Given the description of an element on the screen output the (x, y) to click on. 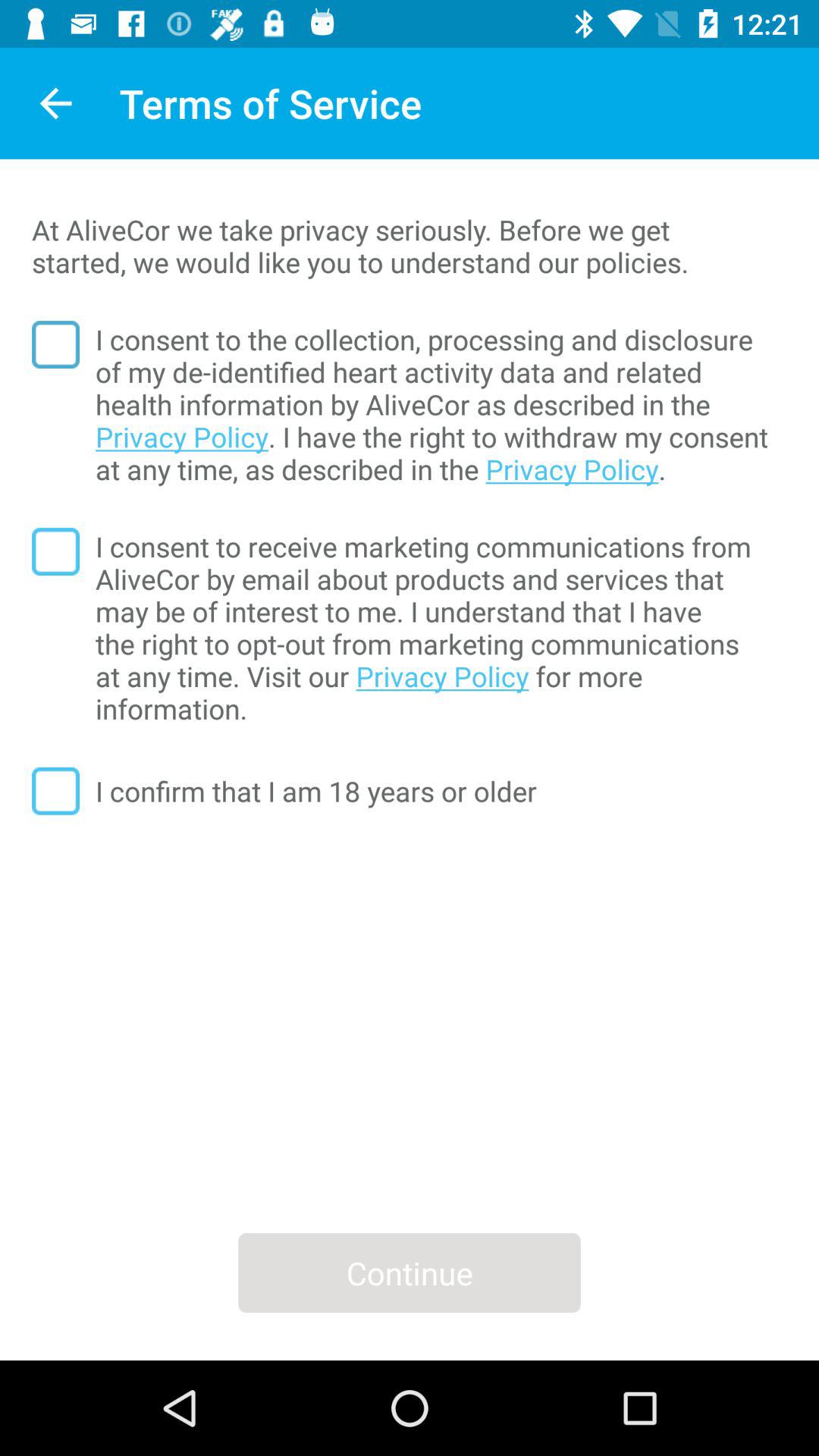
launch the continue icon (409, 1272)
